Given the description of an element on the screen output the (x, y) to click on. 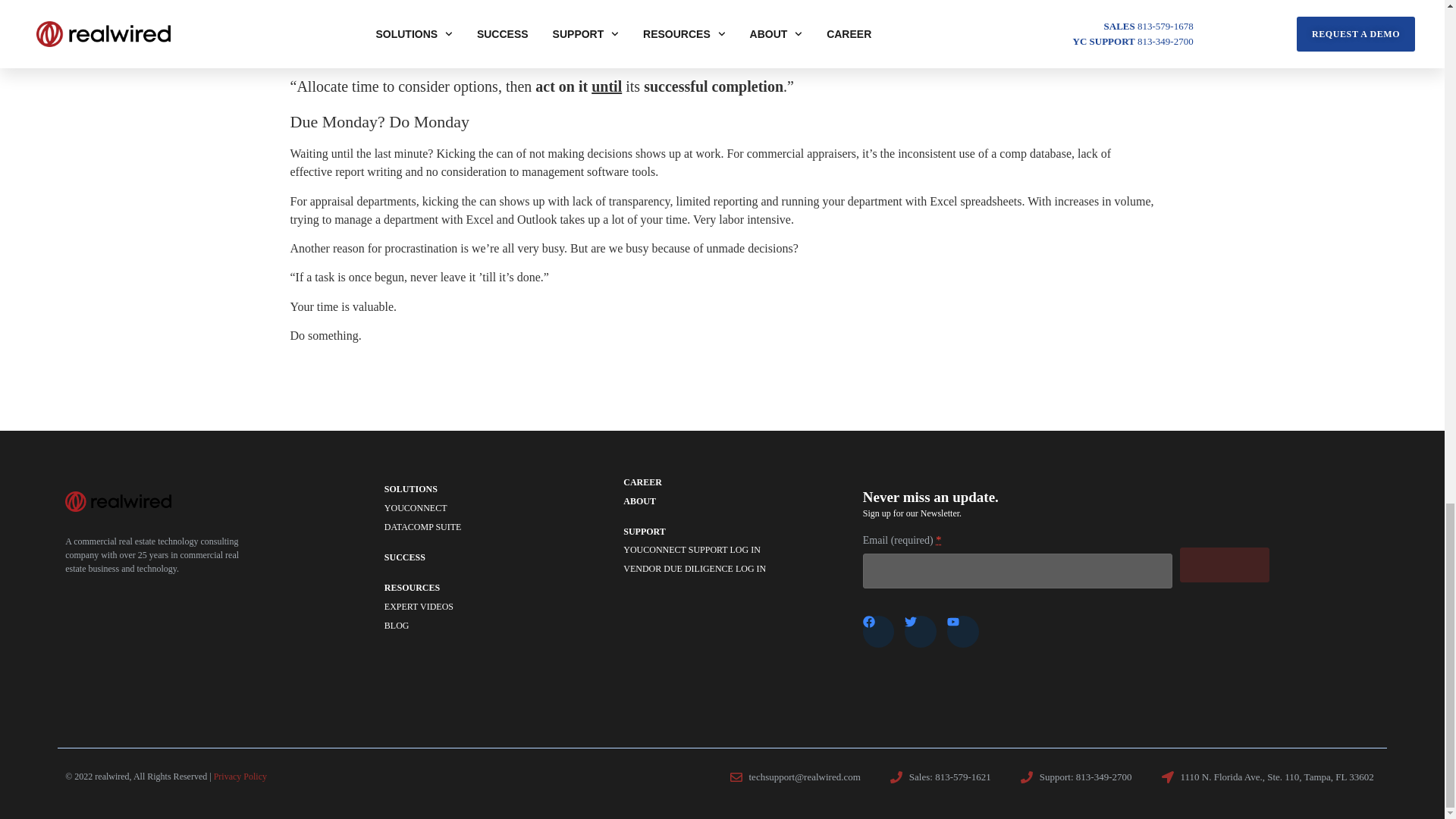
Subscribe (1224, 564)
